Given the description of an element on the screen output the (x, y) to click on. 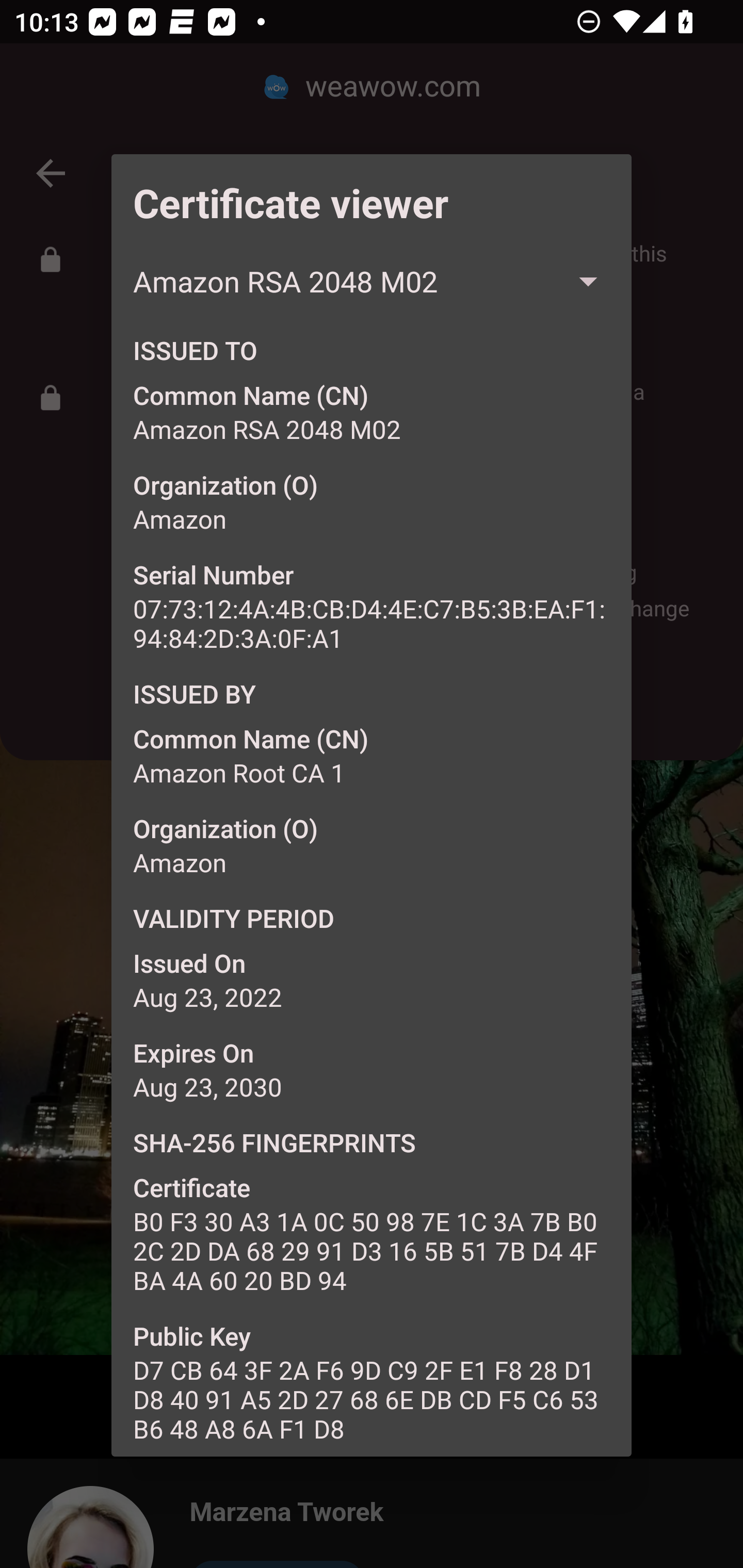
Amazon RSA 2048 M02 (371, 281)
